Given the description of an element on the screen output the (x, y) to click on. 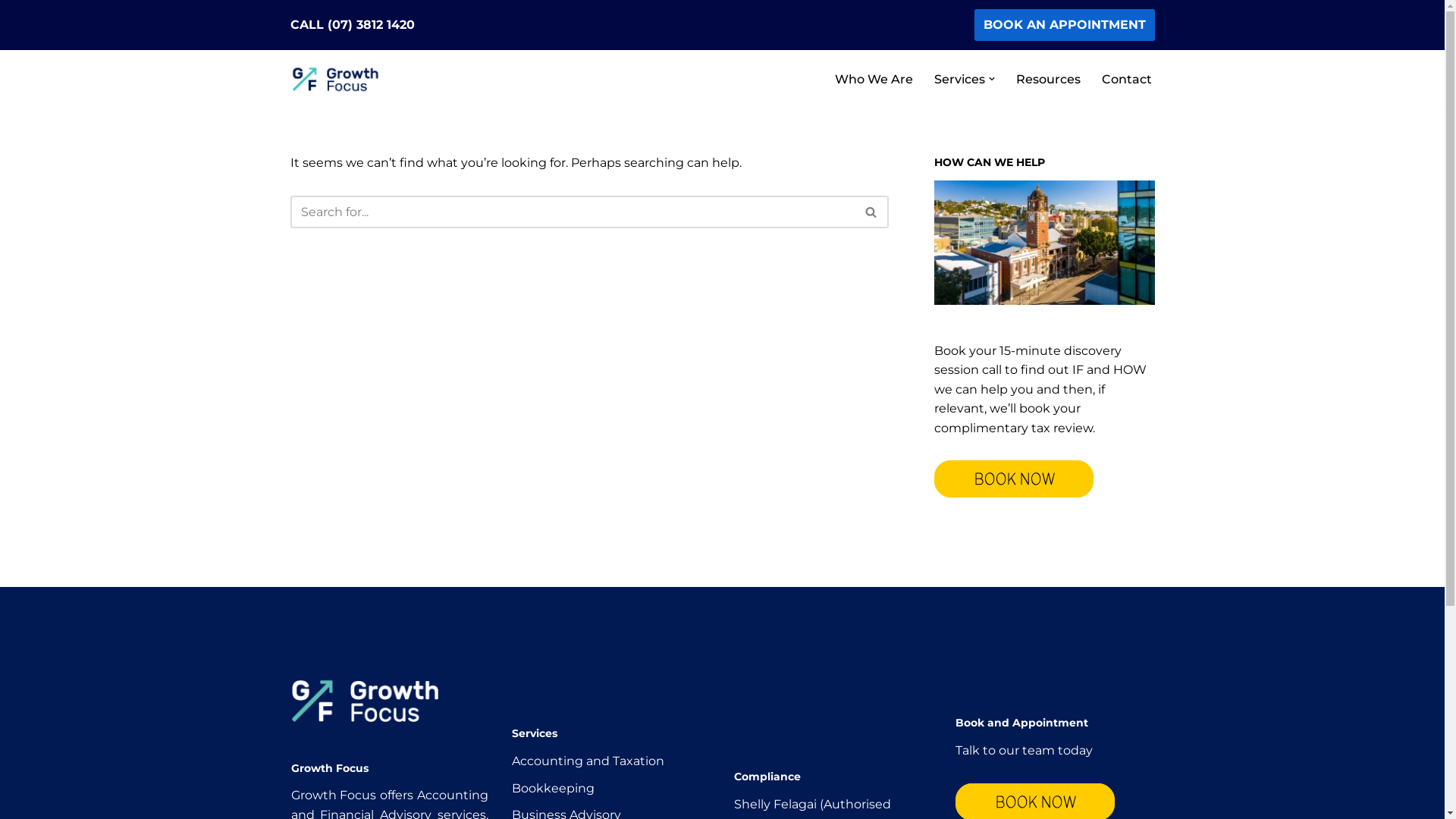
HOW CAN WE HELP Element type: hover (1044, 242)
Services Element type: text (959, 79)
Bookkeeping Element type: text (552, 788)
Accounting and Taxation Element type: text (587, 760)
Skip to content Element type: text (11, 31)
Who We Are Element type: text (873, 79)
BOOK AN APPOINTMENT Element type: text (1063, 24)
Contact Element type: text (1126, 79)
Resources Element type: text (1048, 79)
